Given the description of an element on the screen output the (x, y) to click on. 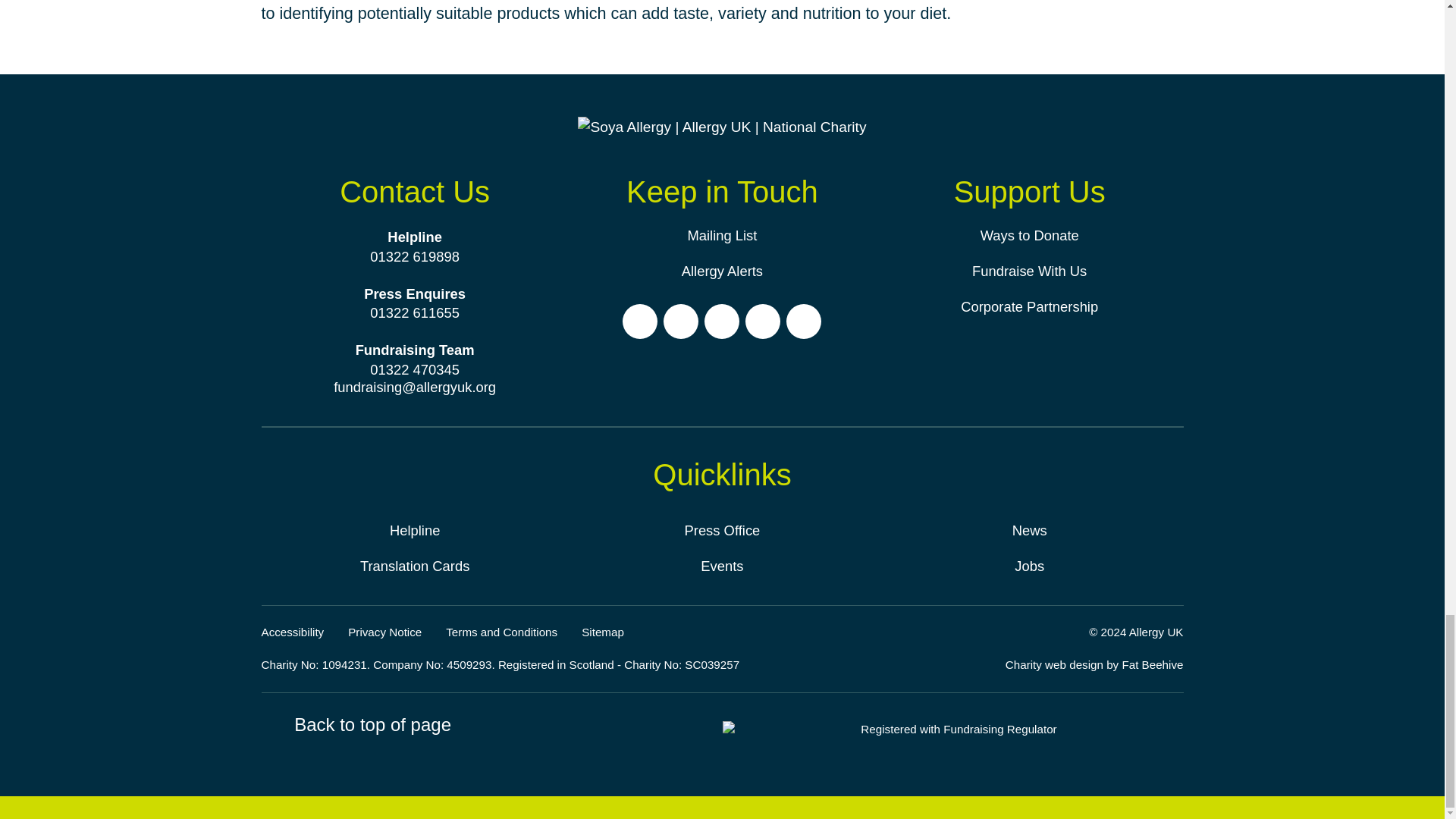
Youtube (762, 321)
Twitter (721, 321)
Instagram (680, 321)
Linkedin (803, 321)
Facebook (640, 321)
